Given the description of an element on the screen output the (x, y) to click on. 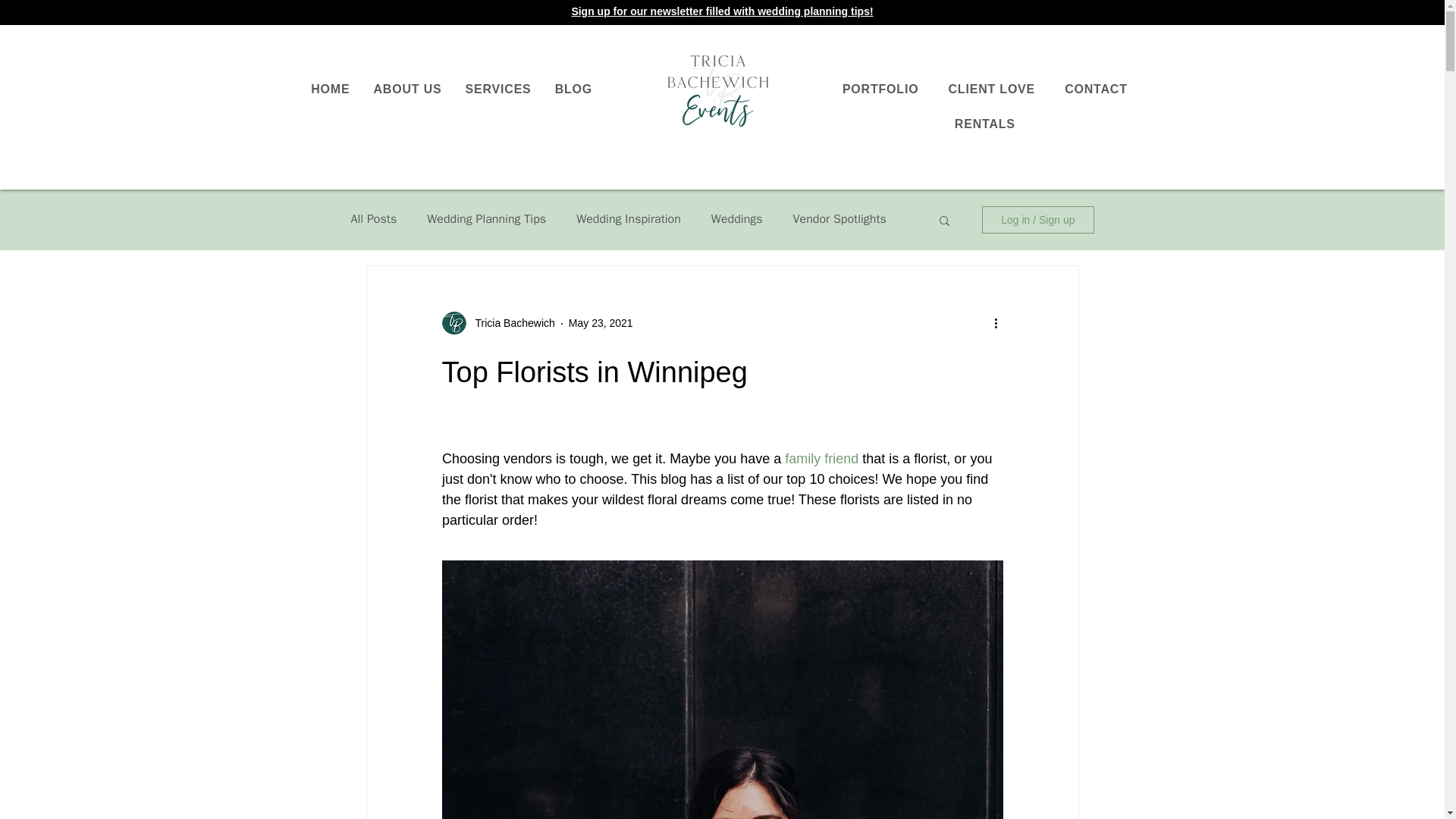
Vendor Spotlights (839, 219)
family friend  (822, 458)
May 23, 2021 (601, 322)
Weddings (736, 219)
HOME (330, 89)
BLOG (573, 89)
ABOUT US (407, 89)
CONTACT (1095, 89)
PORTFOLIO (880, 89)
RENTALS (984, 123)
Wedding Inspiration (628, 219)
SERVICES (498, 89)
CLIENT LOVE (991, 89)
Tricia Bachewich (509, 323)
